Given the description of an element on the screen output the (x, y) to click on. 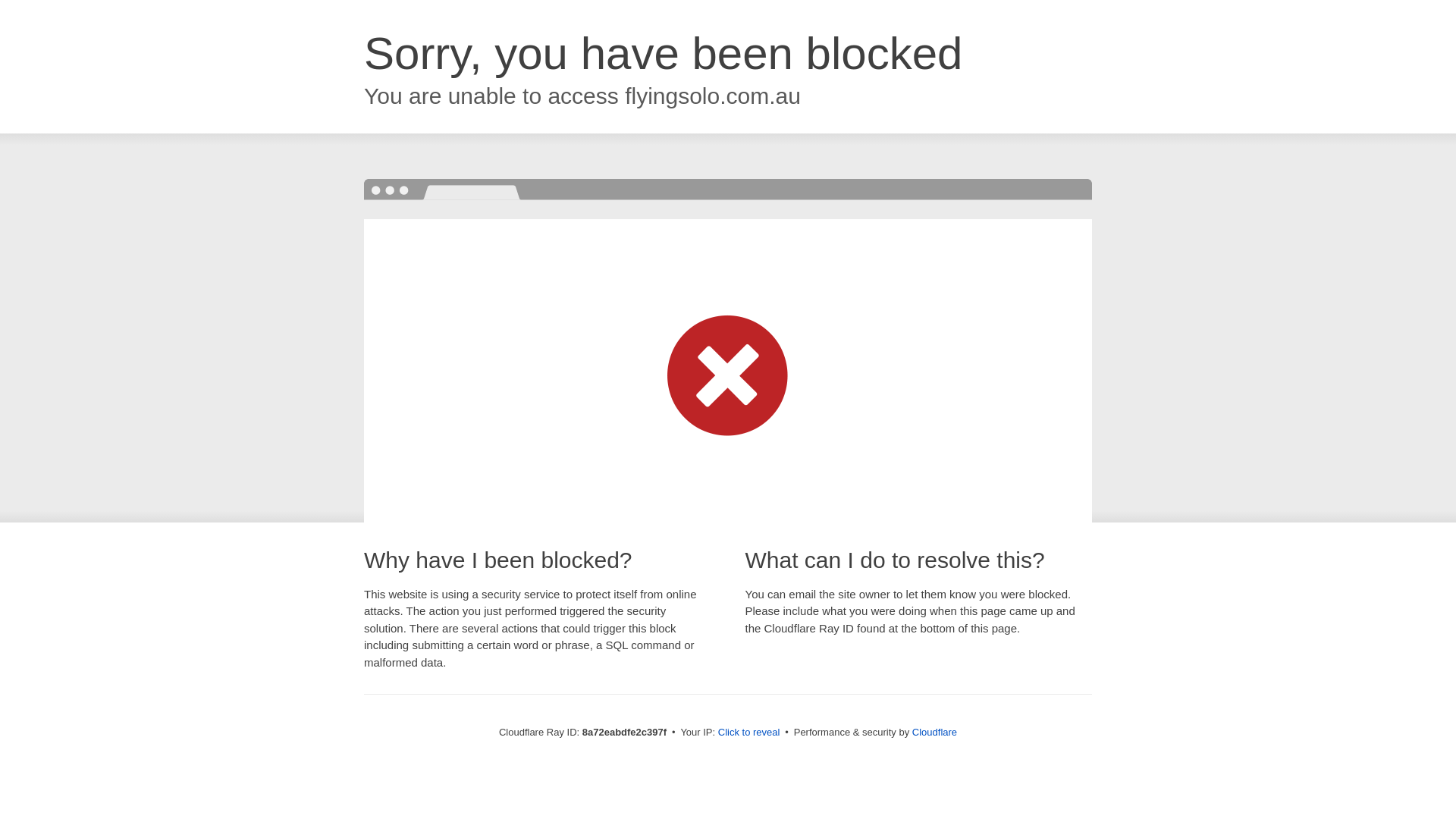
Click to reveal (748, 732)
Cloudflare (934, 731)
